Given the description of an element on the screen output the (x, y) to click on. 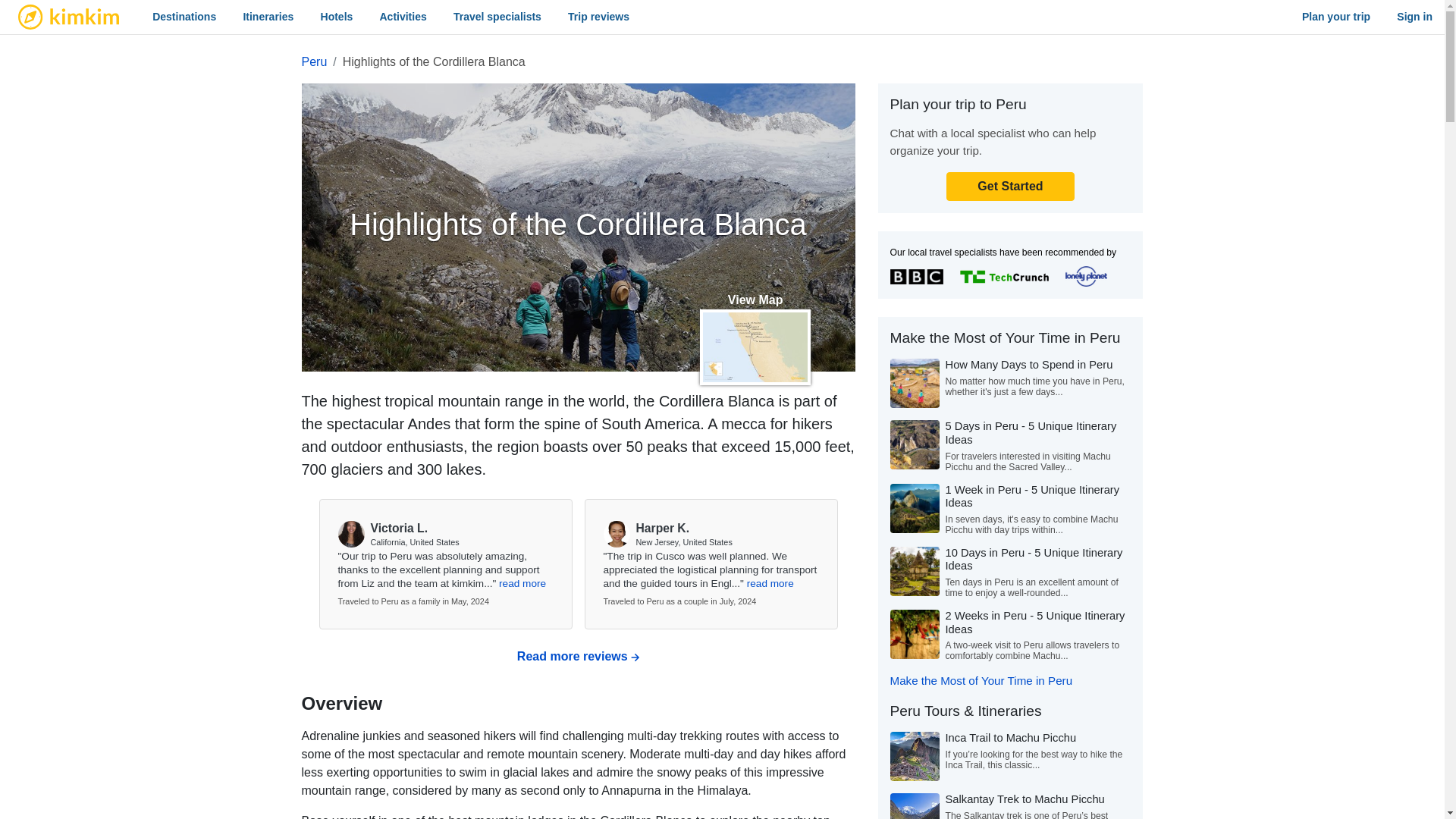
Destinations (184, 17)
1 Week in Peru - 5 Unique Itinerary Ideas (1031, 496)
10 Days in Peru - 5 Unique Itinerary Ideas (1033, 559)
Inca Trail to Machu Picchu (1009, 737)
Map thumbnail of Highlights of the Cordillera Blanca (755, 346)
Sign in (1414, 17)
How Many Days to Spend in Peru (1028, 364)
kimkim (68, 17)
5 Days in Peru - 5 Unique Itinerary Ideas (1030, 432)
2 Weeks in Peru - 5 Unique Itinerary Ideas (1034, 622)
Salkantay Trek to Machu Picchu (1023, 799)
